Given the description of an element on the screen output the (x, y) to click on. 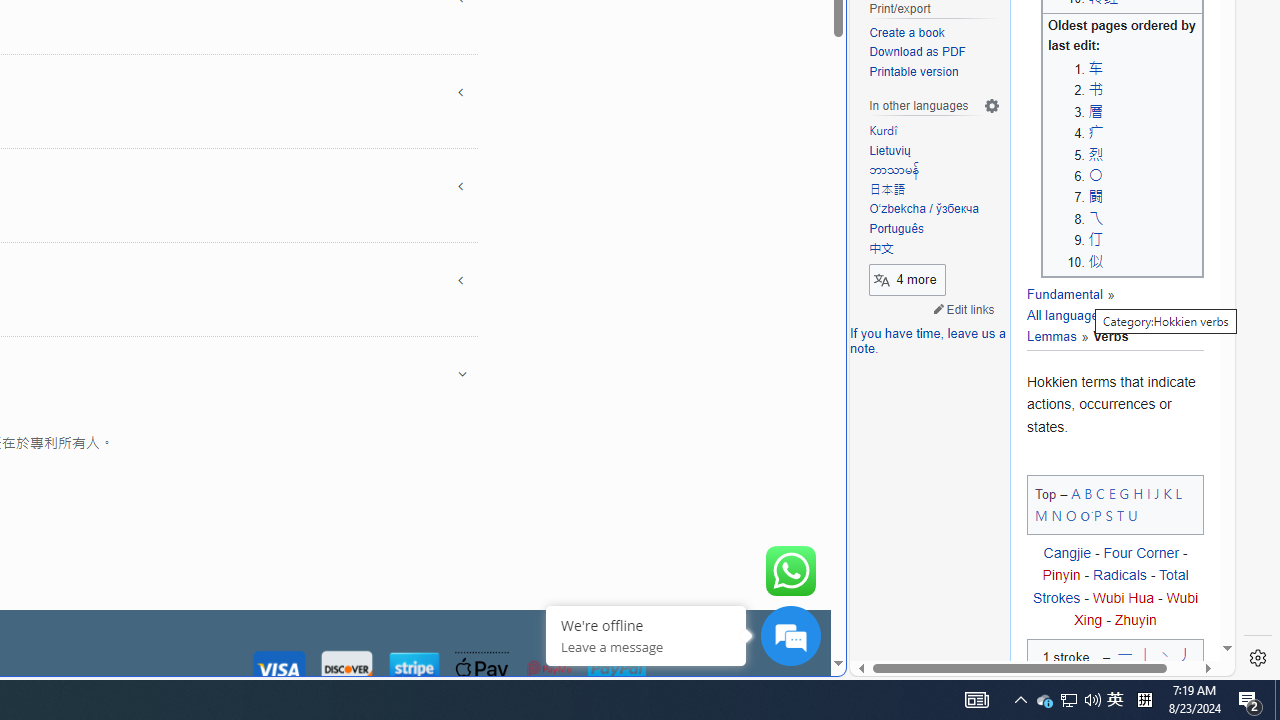
B (1088, 492)
U (1132, 515)
Printable version (913, 71)
P (1097, 515)
G (1124, 492)
Total Strokes (1110, 586)
